Given the description of an element on the screen output the (x, y) to click on. 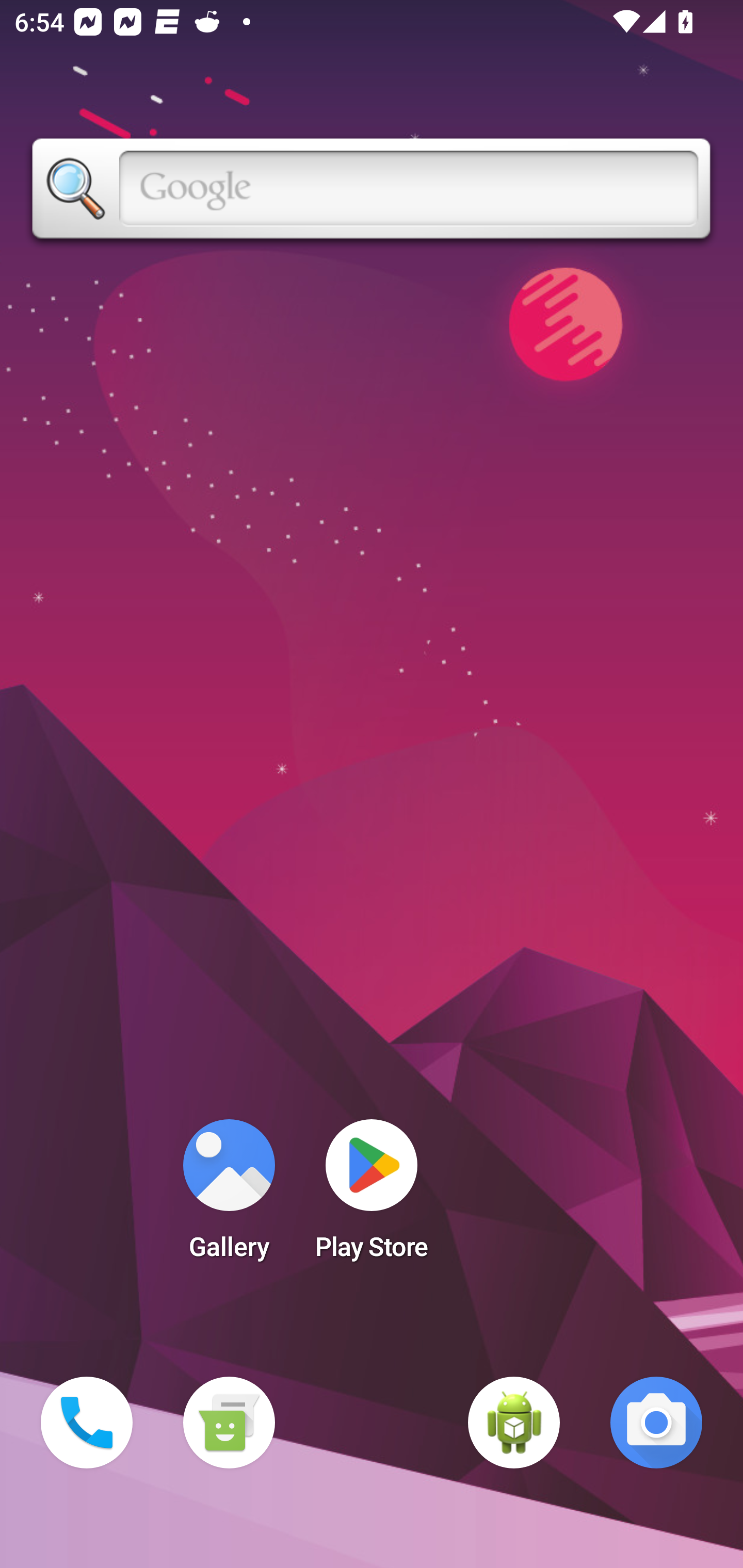
Gallery (228, 1195)
Play Store (371, 1195)
Phone (86, 1422)
Messaging (228, 1422)
WebView Browser Tester (513, 1422)
Camera (656, 1422)
